Given the description of an element on the screen output the (x, y) to click on. 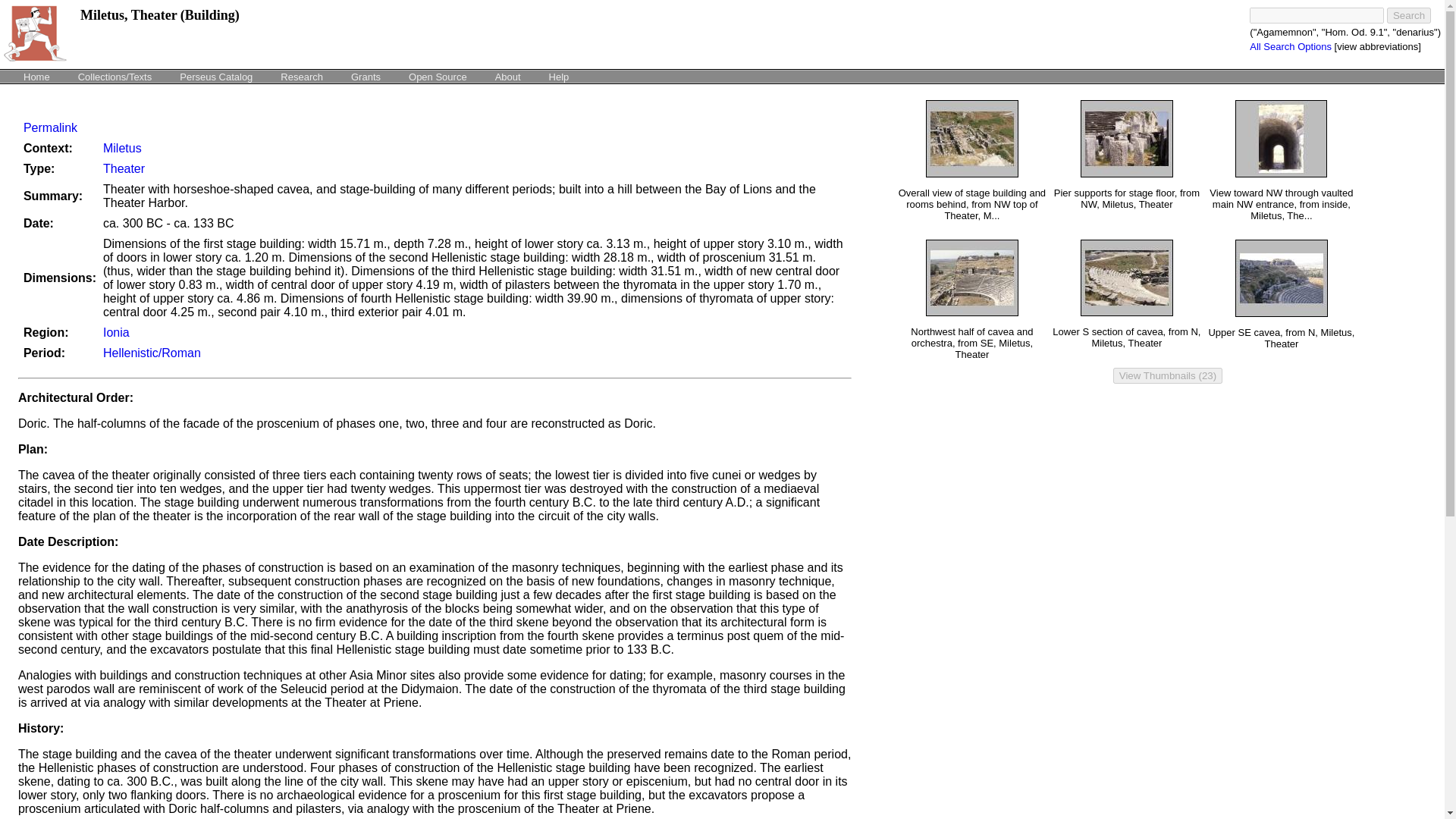
Home (36, 76)
Ionia (116, 332)
Search (1409, 15)
view abbreviations (1377, 46)
Theater (123, 168)
Research (301, 76)
Permalink (50, 127)
Perseus Catalog (215, 76)
Help (558, 76)
Grants (365, 76)
Open Source (437, 76)
Search (1409, 15)
Miletus (122, 147)
About (507, 76)
All Search Options (1290, 46)
